Given the description of an element on the screen output the (x, y) to click on. 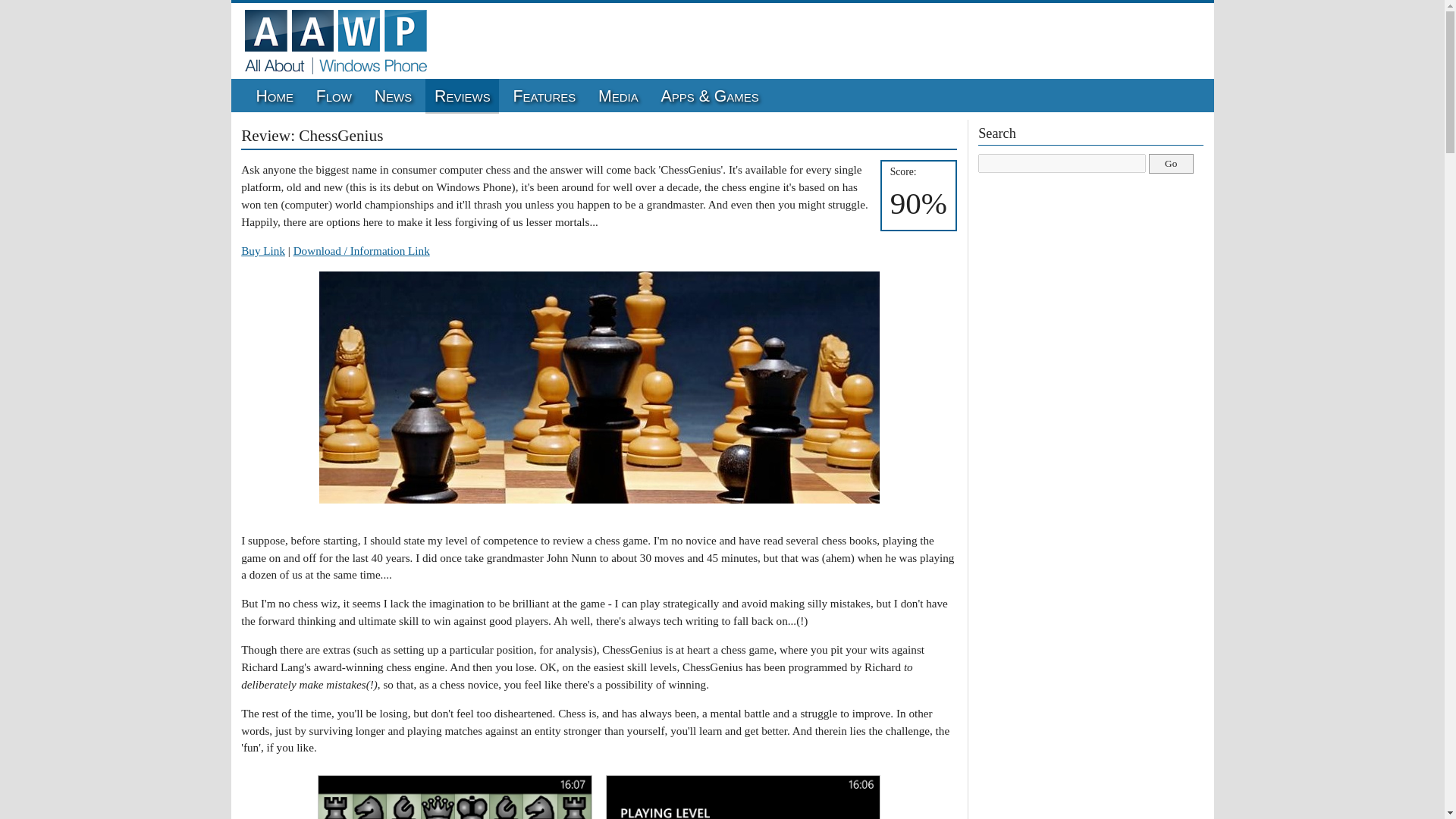
Go (1170, 163)
Reviews (462, 96)
Screenshot, ChessGenius (454, 796)
Home page (274, 95)
Phone, accesory, app and games reviews (462, 96)
Screenshot, ChessGenius (742, 796)
In depth analysis, tutorials and guides (544, 95)
Buy Link (263, 250)
Editorial news (392, 95)
Go (1170, 163)
Podcast and videos (617, 95)
Flow (334, 95)
A curated stream of information on Windows Phone (334, 95)
Home (274, 95)
Features (544, 95)
